Given the description of an element on the screen output the (x, y) to click on. 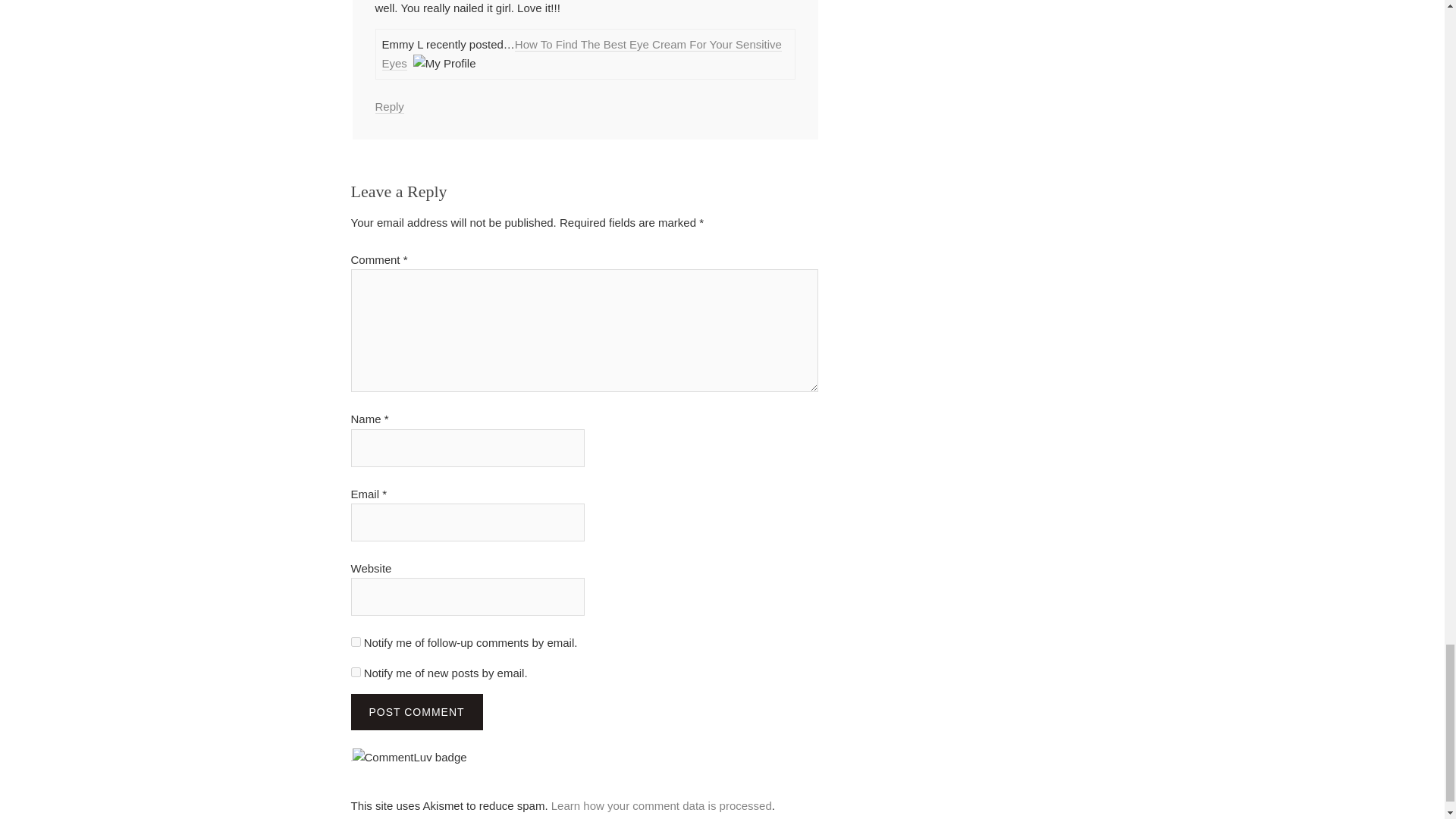
Post Comment (415, 711)
subscribe (354, 642)
subscribe (354, 672)
